Given the description of an element on the screen output the (x, y) to click on. 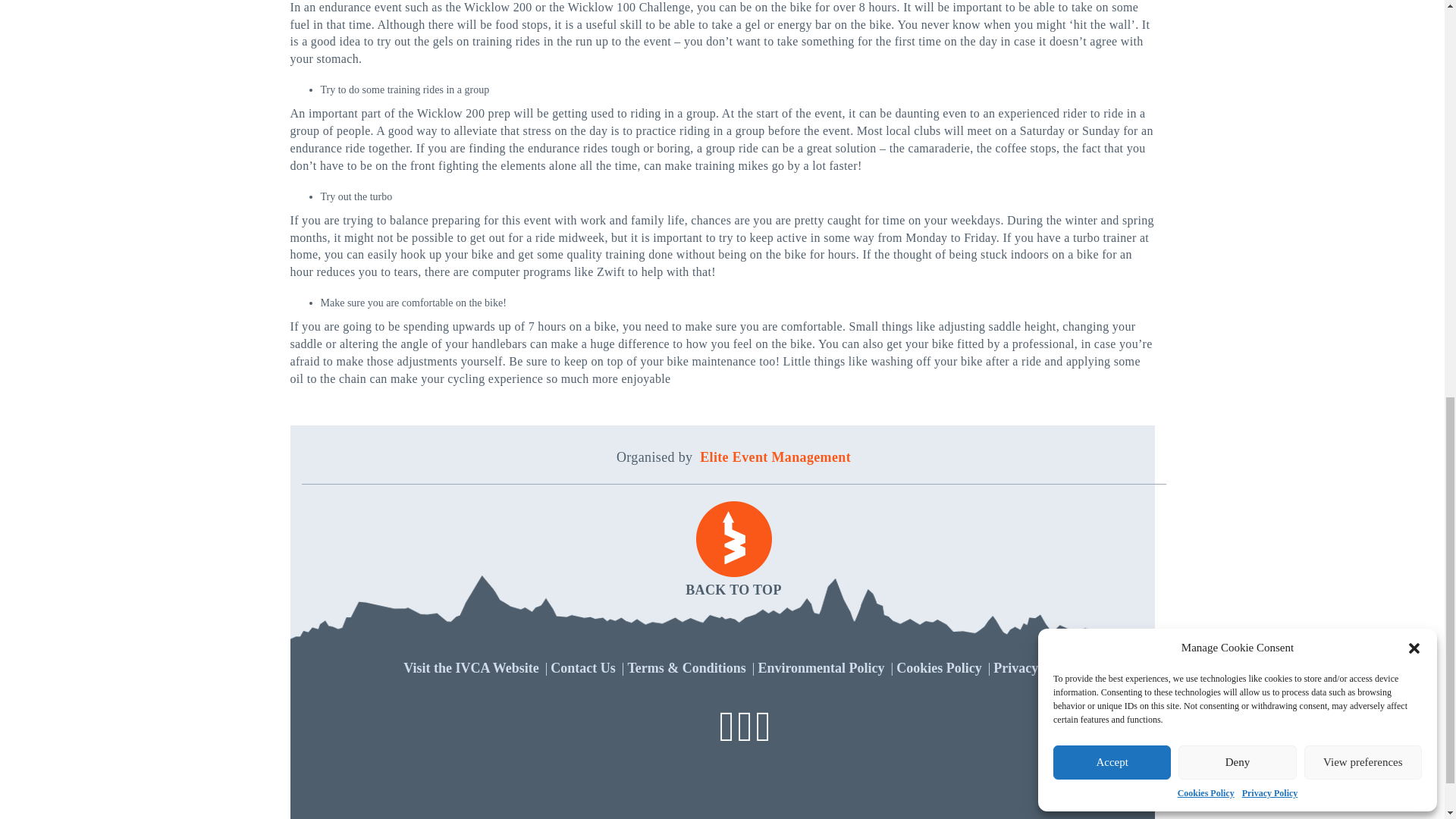
Elite Event Management (775, 457)
Contact Us (582, 667)
Cookies Policy (938, 667)
BACK TO TOP (733, 550)
Environmental Policy (820, 667)
Privacy Policy (1034, 667)
Visit the IVCA Website (470, 667)
